Given the description of an element on the screen output the (x, y) to click on. 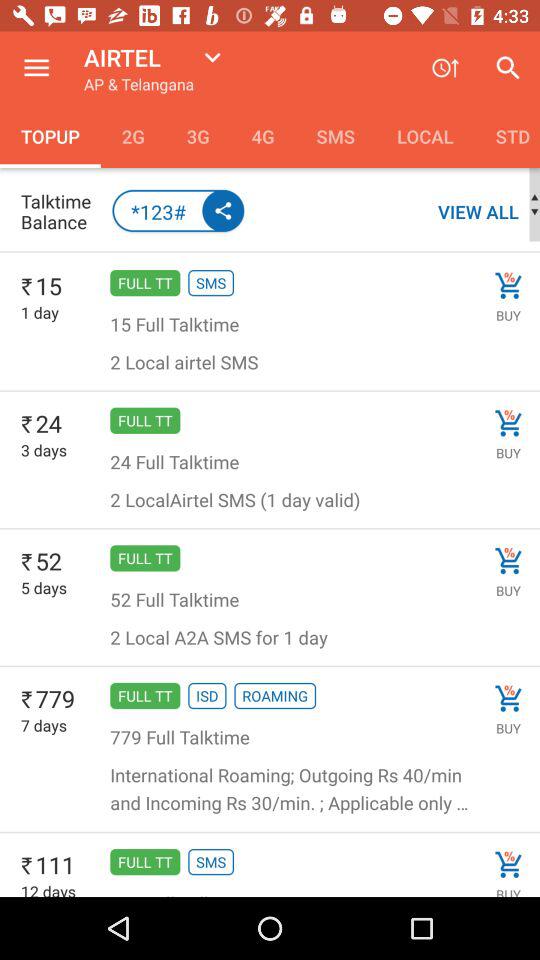
turn off item below talktime balance item (270, 251)
